Given the description of an element on the screen output the (x, y) to click on. 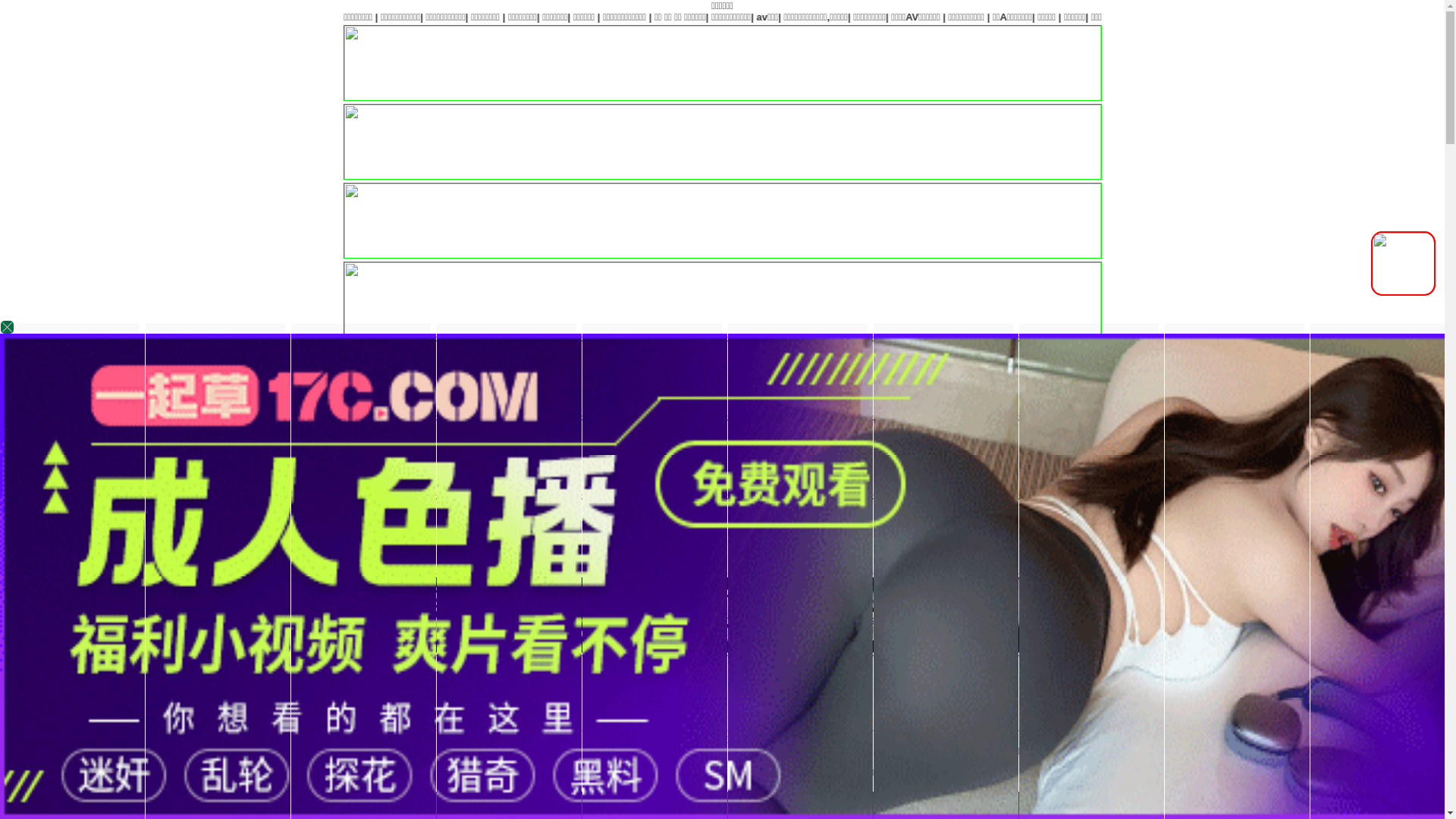
| Element type: text (1275, 16)
| Element type: text (1410, 16)
| Element type: text (1024, 16)
| Element type: text (1088, 16)
| Element type: text (1135, 16)
| Element type: text (1049, 16)
| Element type: text (1368, 16)
| Element type: text (1322, 16)
| Element type: text (1214, 16)
| Element type: text (1174, 16)
